Given the description of an element on the screen output the (x, y) to click on. 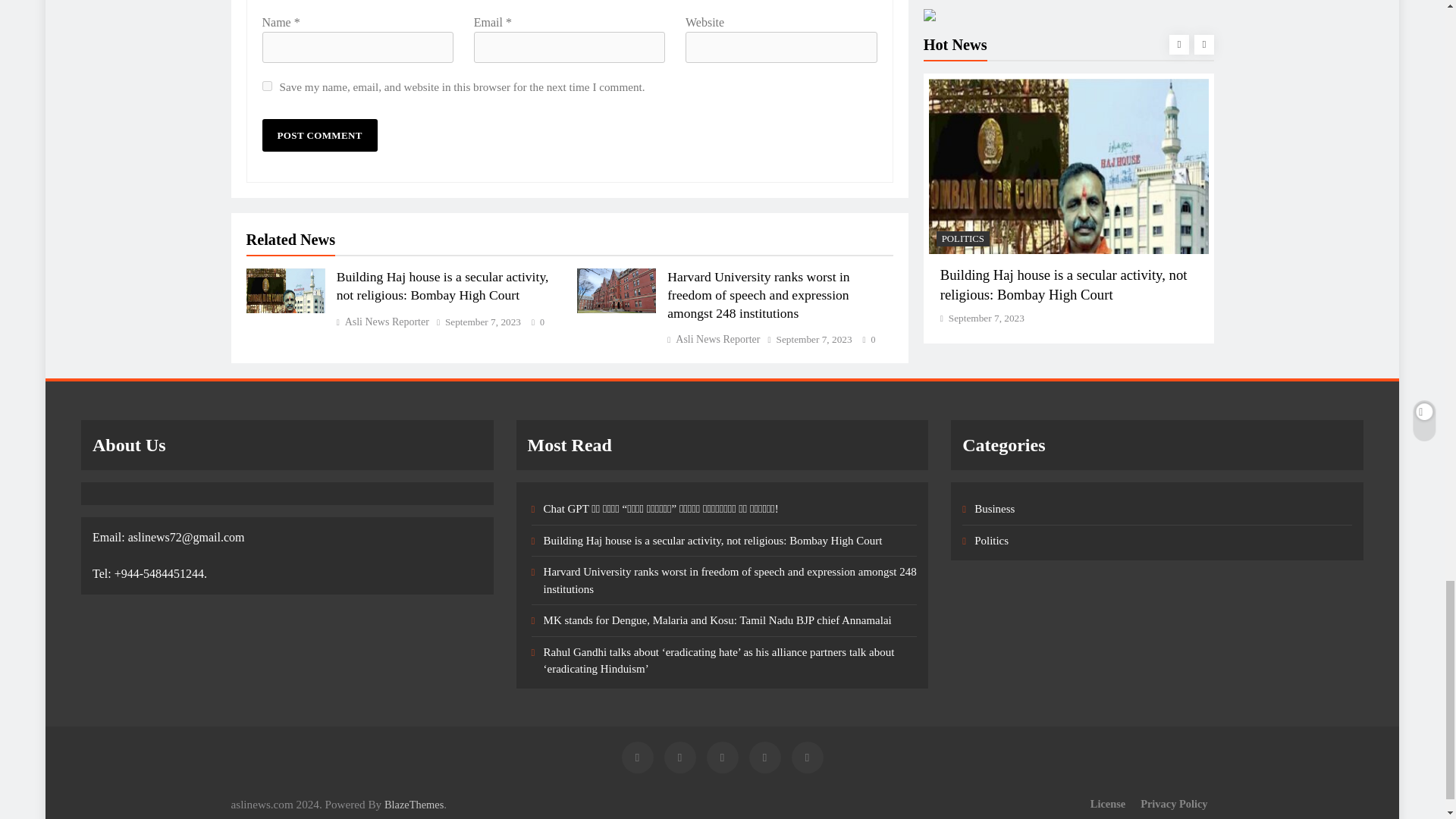
Post Comment (319, 134)
yes (267, 85)
